Given the description of an element on the screen output the (x, y) to click on. 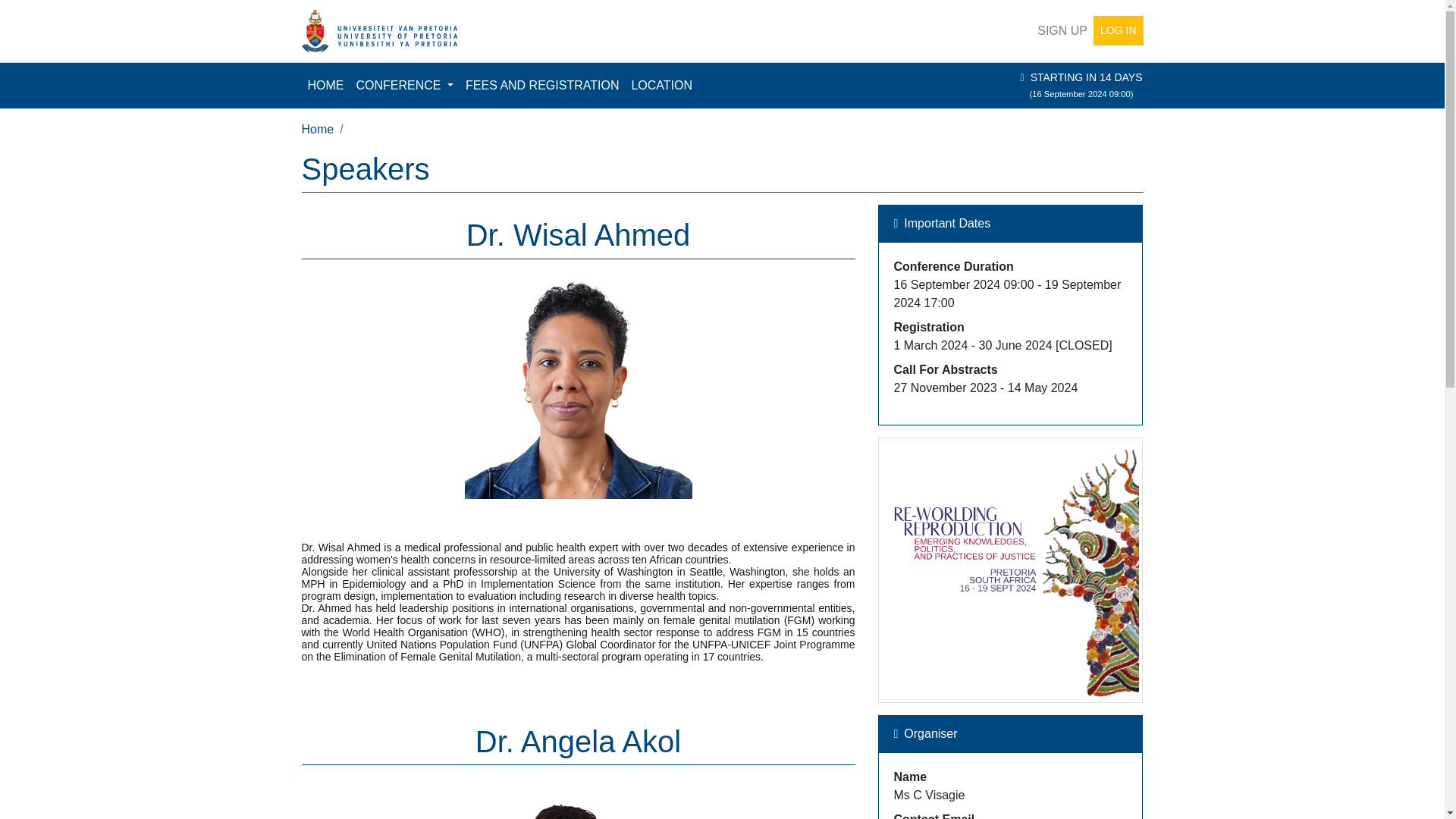
CONFERENCE (405, 85)
SIGN UP (1061, 30)
LOCATION (661, 85)
Home (317, 128)
HOME (325, 85)
LOG IN (1117, 30)
FEES AND REGISTRATION (542, 85)
STARTING IN 14 DAYS (1086, 77)
